Given the description of an element on the screen output the (x, y) to click on. 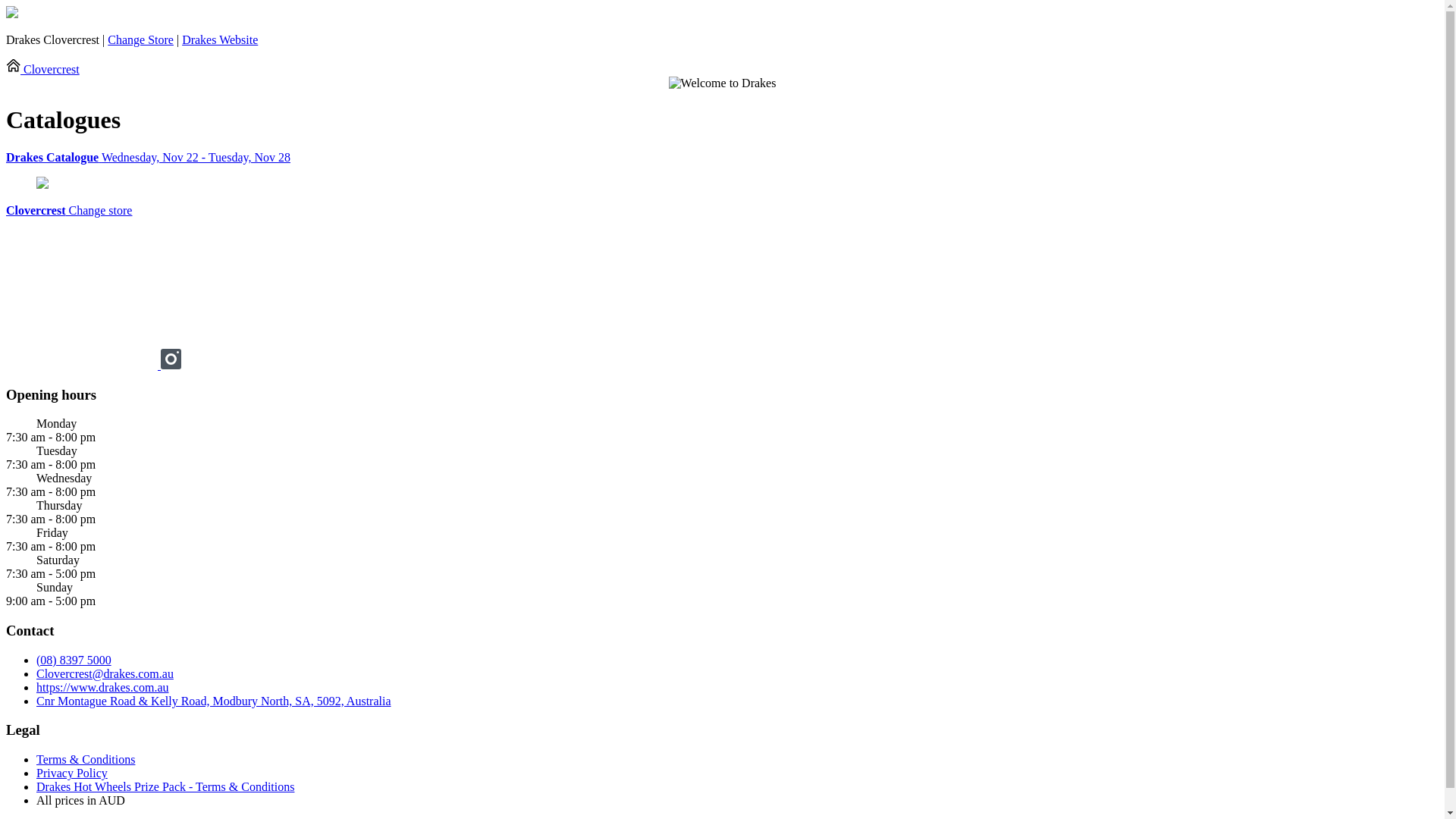
Clovercrest@drakes.com.au Element type: text (104, 673)
Instagram drakessupermarkets Element type: hover (170, 364)
Drakes Hot Wheels Prize Pack - Terms & Conditions Element type: text (165, 786)
Change Store Element type: text (140, 39)
Clovercrest Element type: text (42, 68)
Drakes Catalogue Wednesday, Nov 22 - Tuesday, Nov 28 Element type: text (722, 156)
Privacy Policy Element type: text (71, 772)
Facebook Element type: hover (83, 364)
(08) 8397 5000 Element type: text (73, 659)
https://www.drakes.com.au Element type: text (102, 686)
Terms & Conditions Element type: text (85, 759)
Drakes Website Element type: text (219, 39)
Clovercrest Change store Element type: text (68, 209)
